Given the description of an element on the screen output the (x, y) to click on. 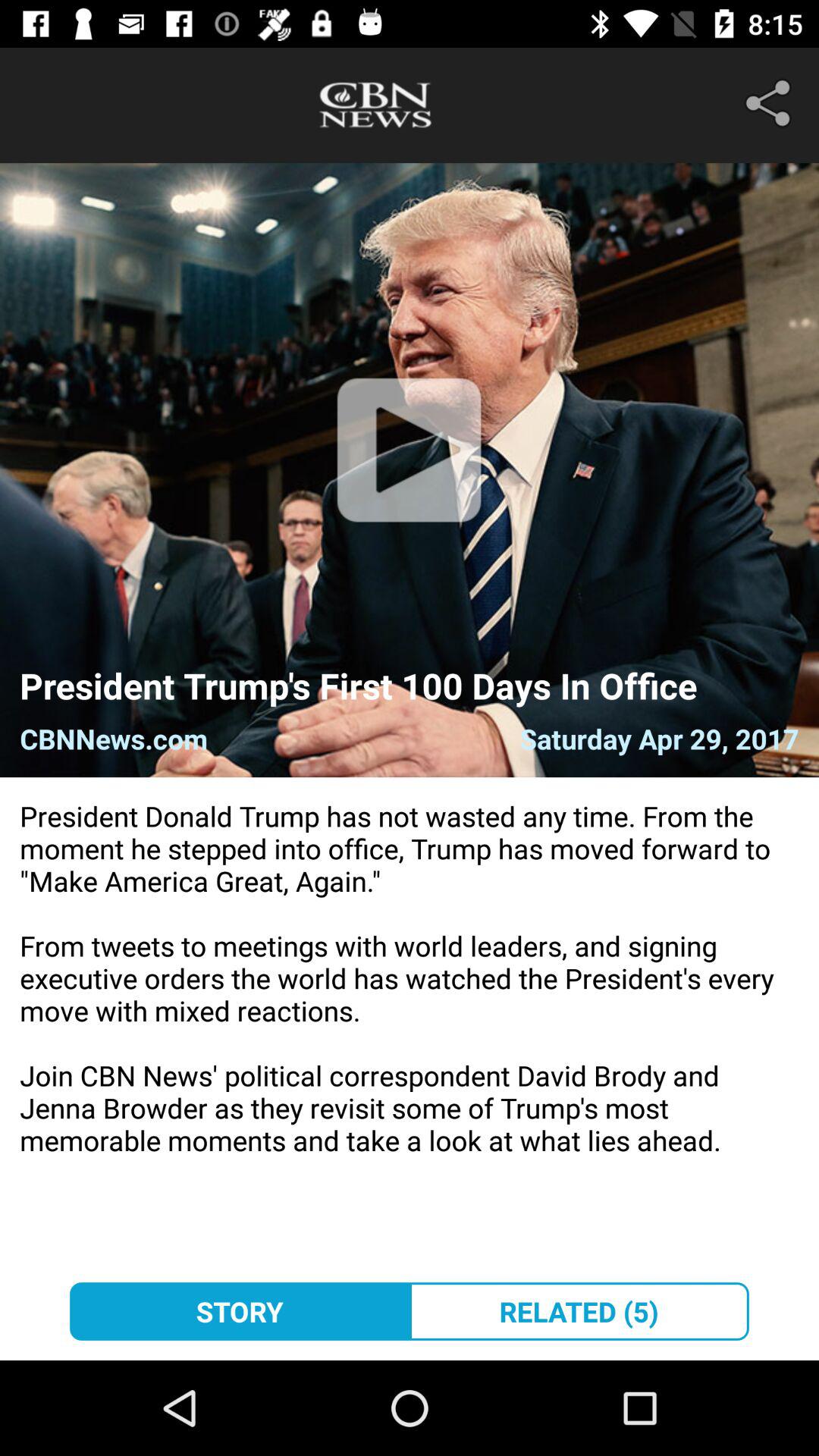
flip until the story icon (239, 1311)
